Given the description of an element on the screen output the (x, y) to click on. 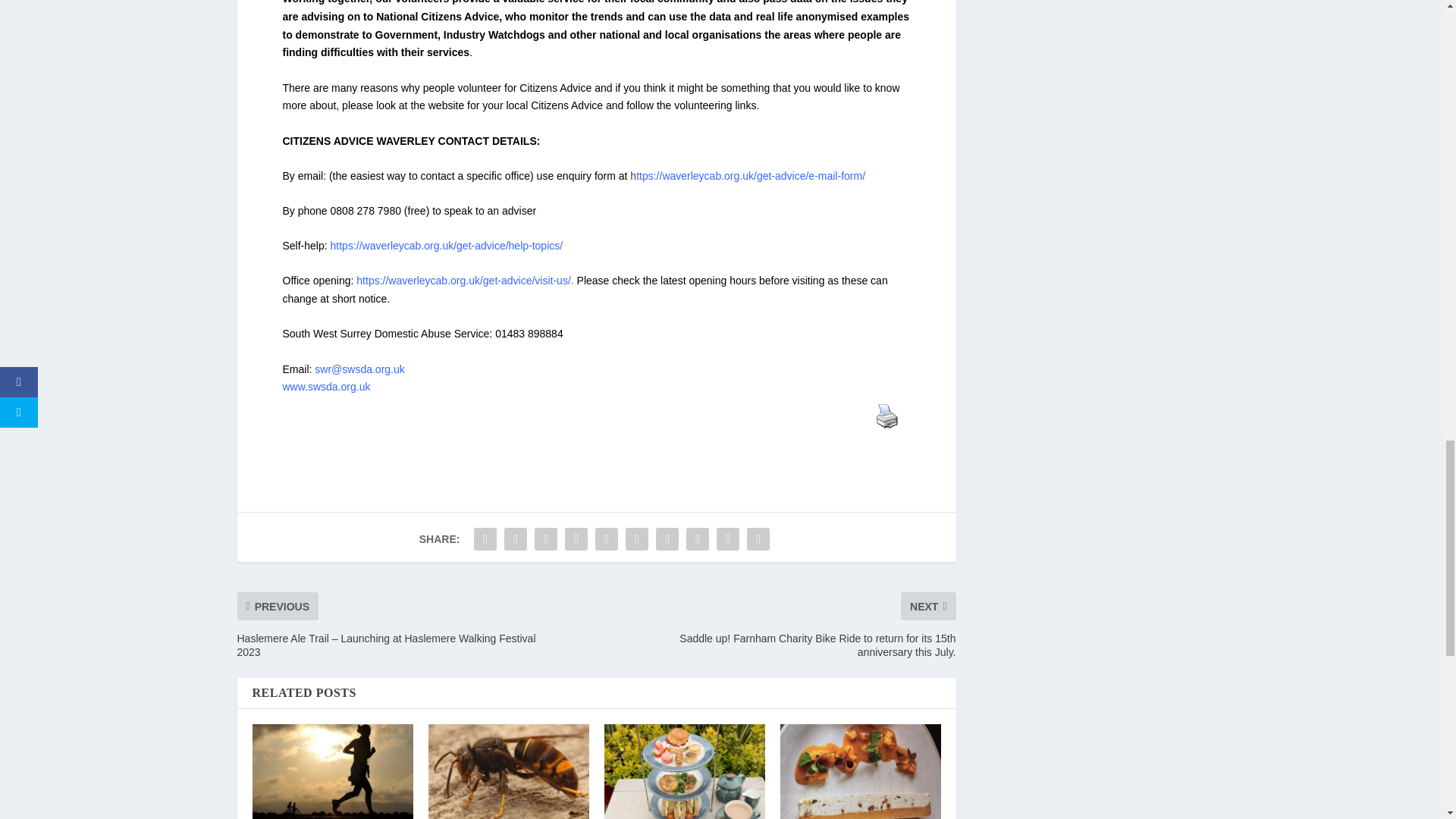
Share "Citizens Advice thanks its volunteers" via Facebook (485, 539)
Print Content (886, 416)
Share "Citizens Advice thanks its volunteers" via Twitter (515, 539)
Share "Citizens Advice thanks its volunteers" via Tumblr (575, 539)
Share "Citizens Advice thanks its volunteers" via Buffer (667, 539)
Share "Citizens Advice thanks its volunteers" via Print (757, 539)
Share "Citizens Advice thanks its volunteers" via Pinterest (606, 539)
Share "Citizens Advice thanks its volunteers" via Email (727, 539)
Share "Citizens Advice thanks its volunteers" via LinkedIn (636, 539)
